Given the description of an element on the screen output the (x, y) to click on. 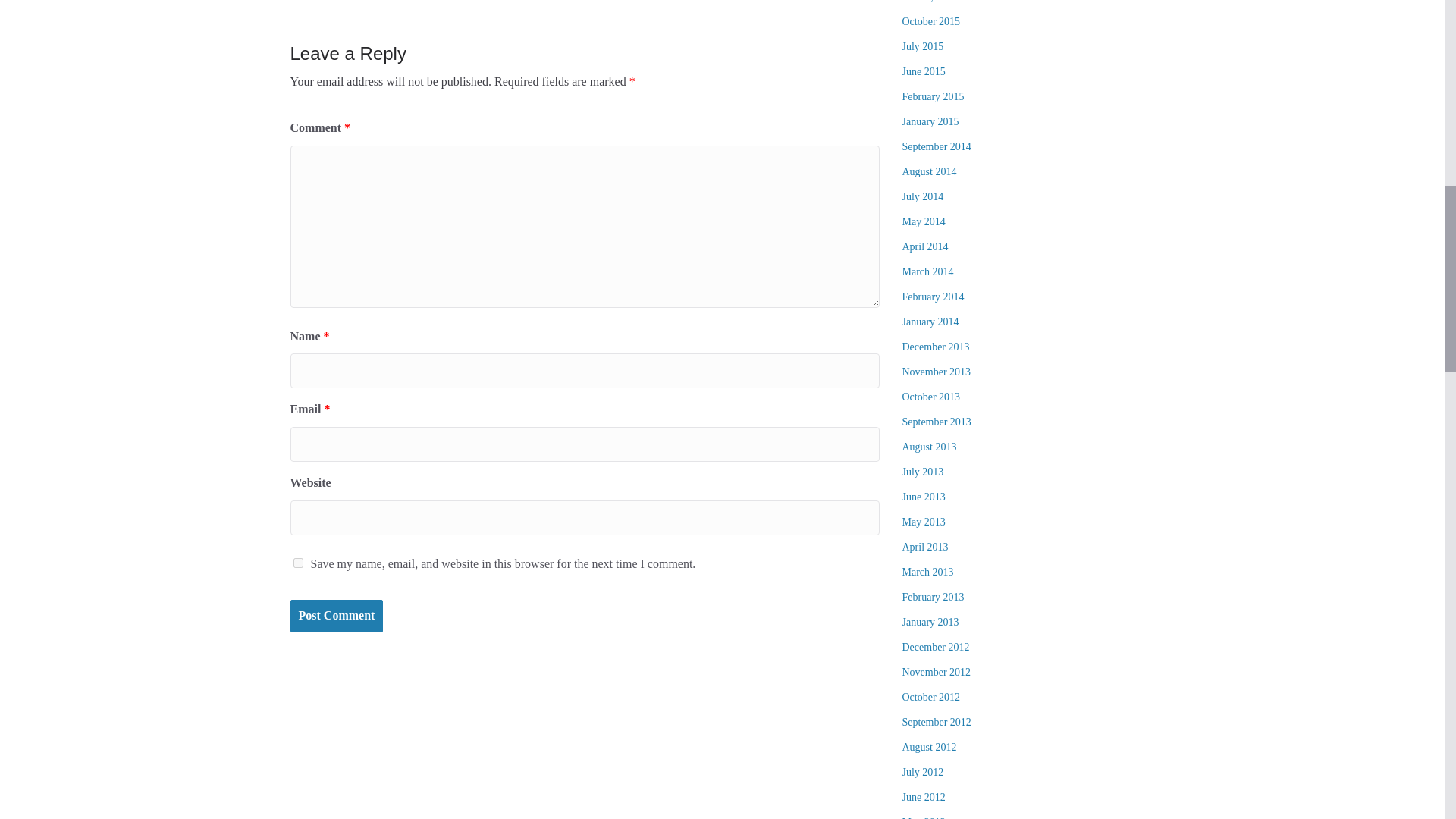
Post Comment (335, 615)
Post Comment (335, 615)
yes (297, 562)
